Given the description of an element on the screen output the (x, y) to click on. 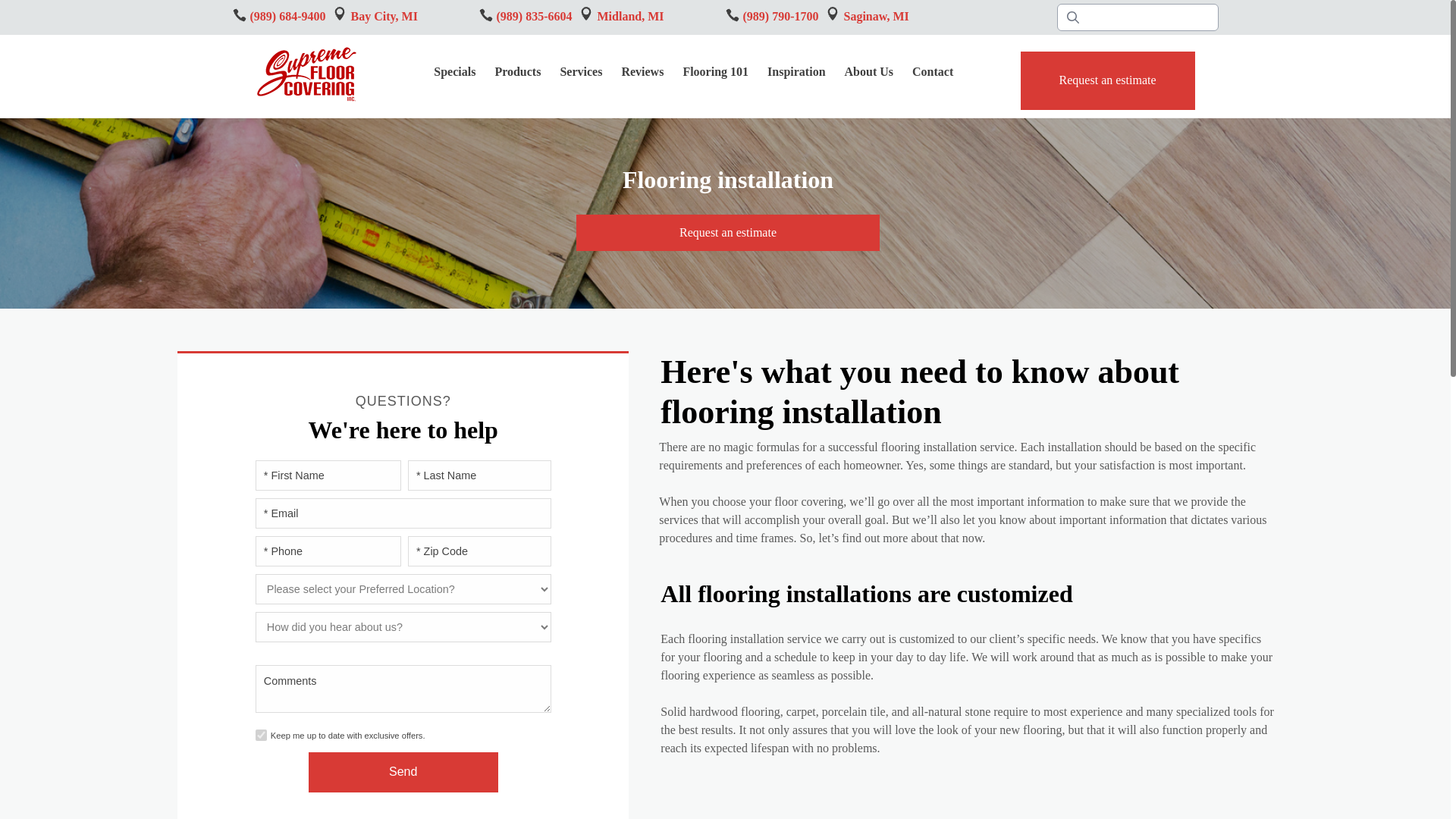
Saginaw, MI (875, 15)
Send (402, 772)
705 Euclid Bay City, MI 48706 (339, 13)
Browse carpet (1107, 80)
phone (832, 13)
Products (238, 15)
Midland, MI (518, 72)
Bay City, MI (629, 15)
phone (383, 15)
Specials (731, 15)
Supreme Floor Covering, Inc (454, 72)
Keep me up to date with exclusive offers. (304, 74)
phone (261, 735)
